Given the description of an element on the screen output the (x, y) to click on. 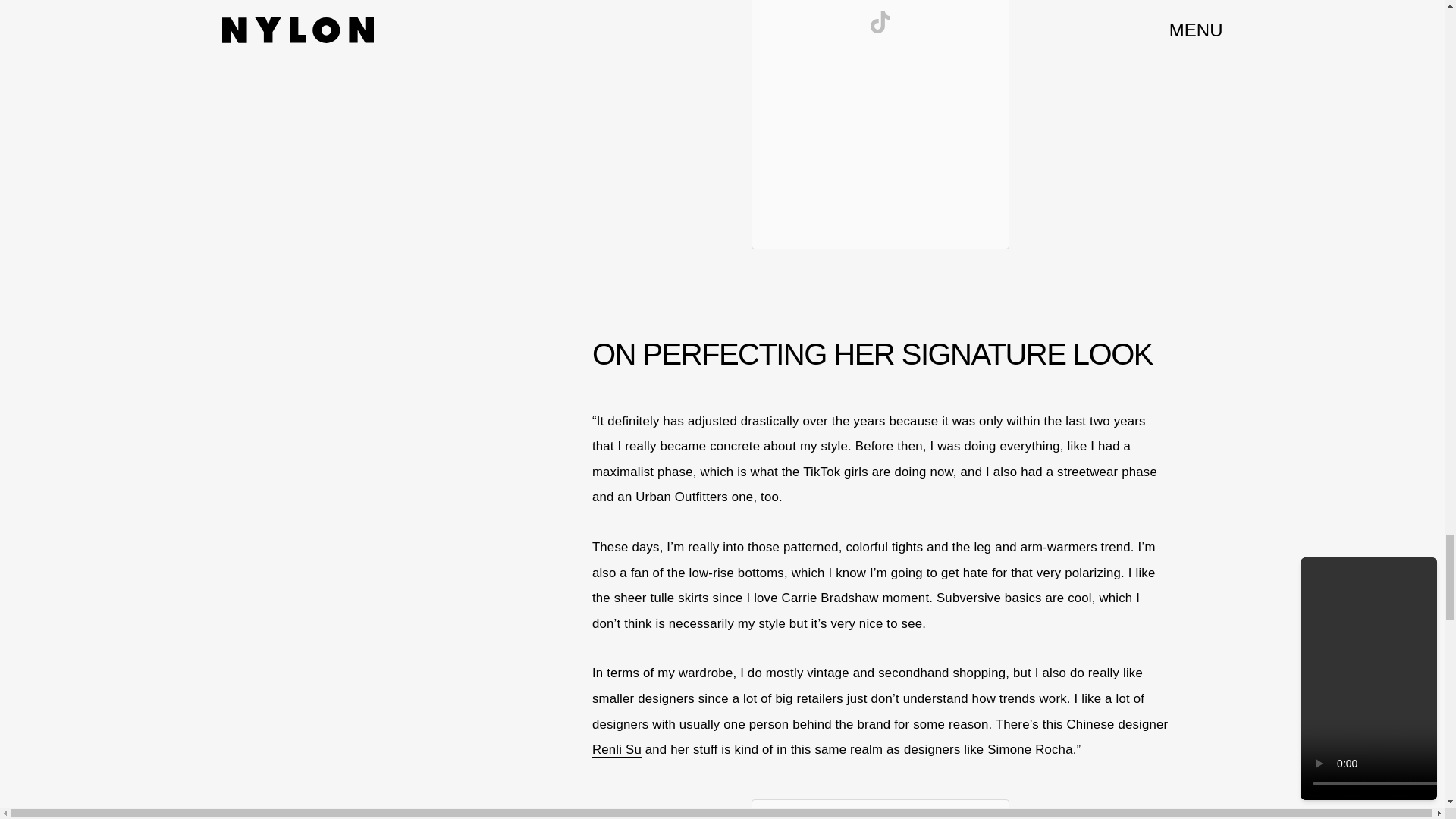
View on TikTok (879, 22)
Renli Su (617, 749)
